Given the description of an element on the screen output the (x, y) to click on. 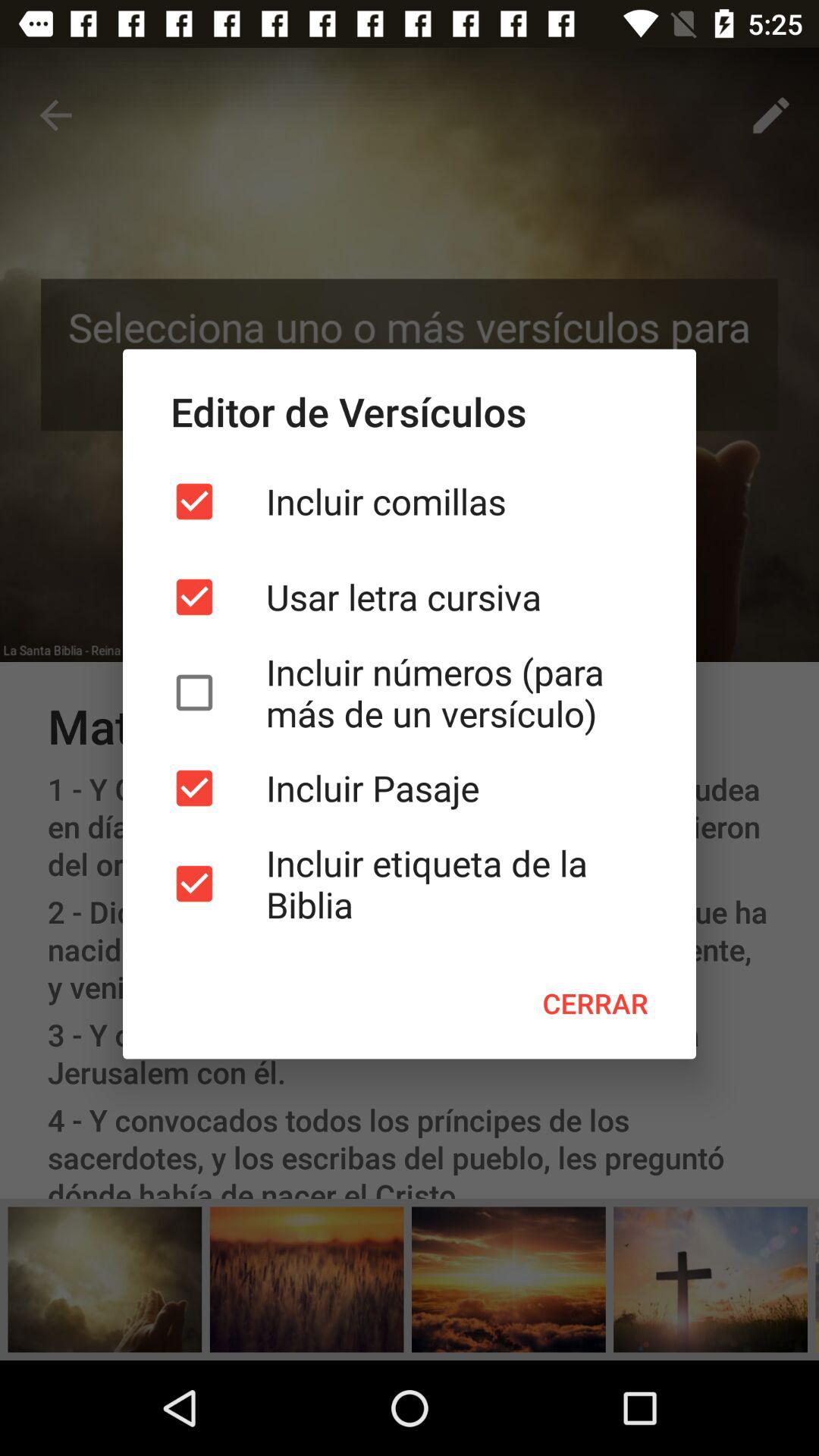
launch the icon above the cerrar icon (409, 883)
